Given the description of an element on the screen output the (x, y) to click on. 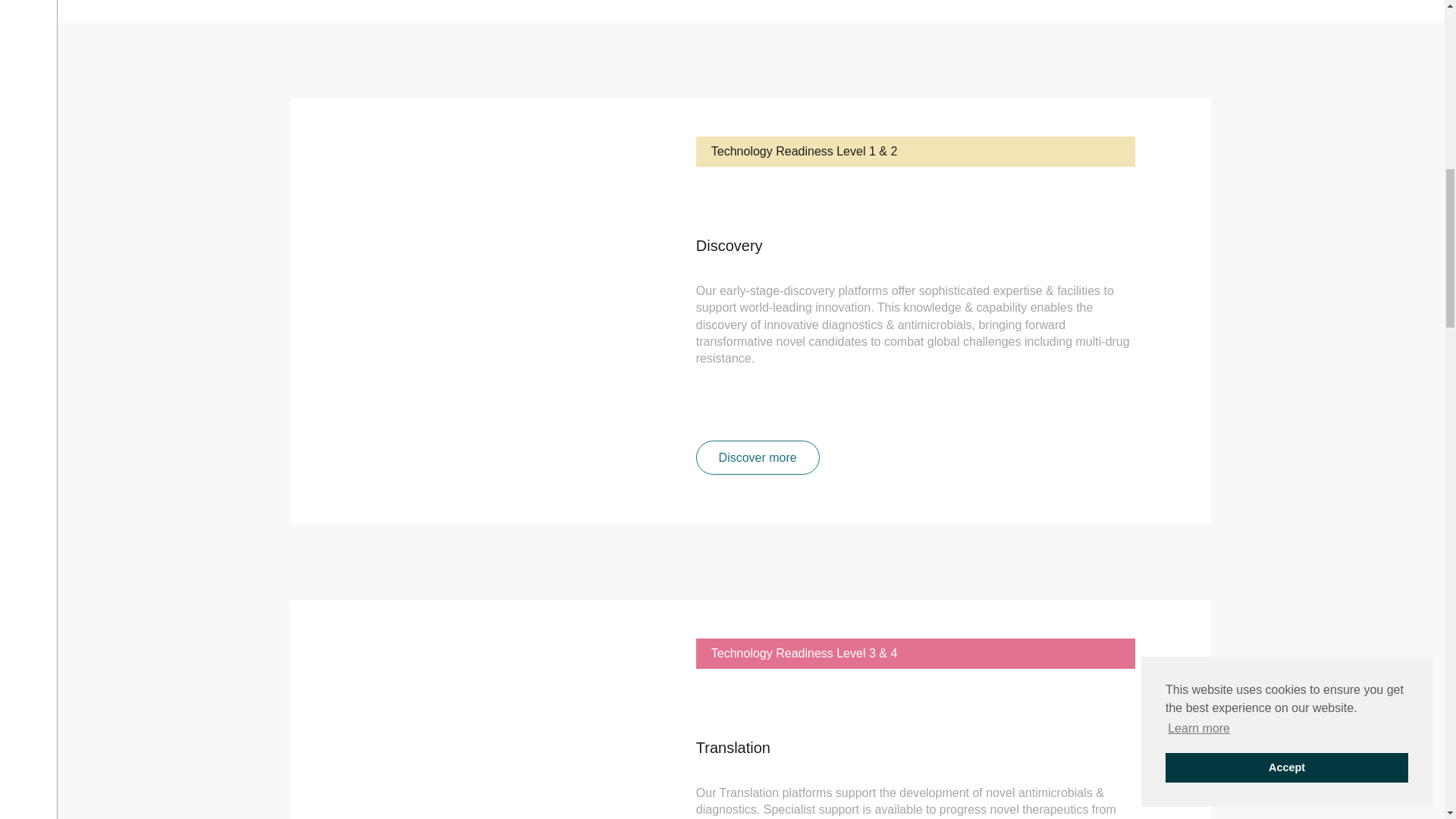
Discover more (757, 457)
